Given the description of an element on the screen output the (x, y) to click on. 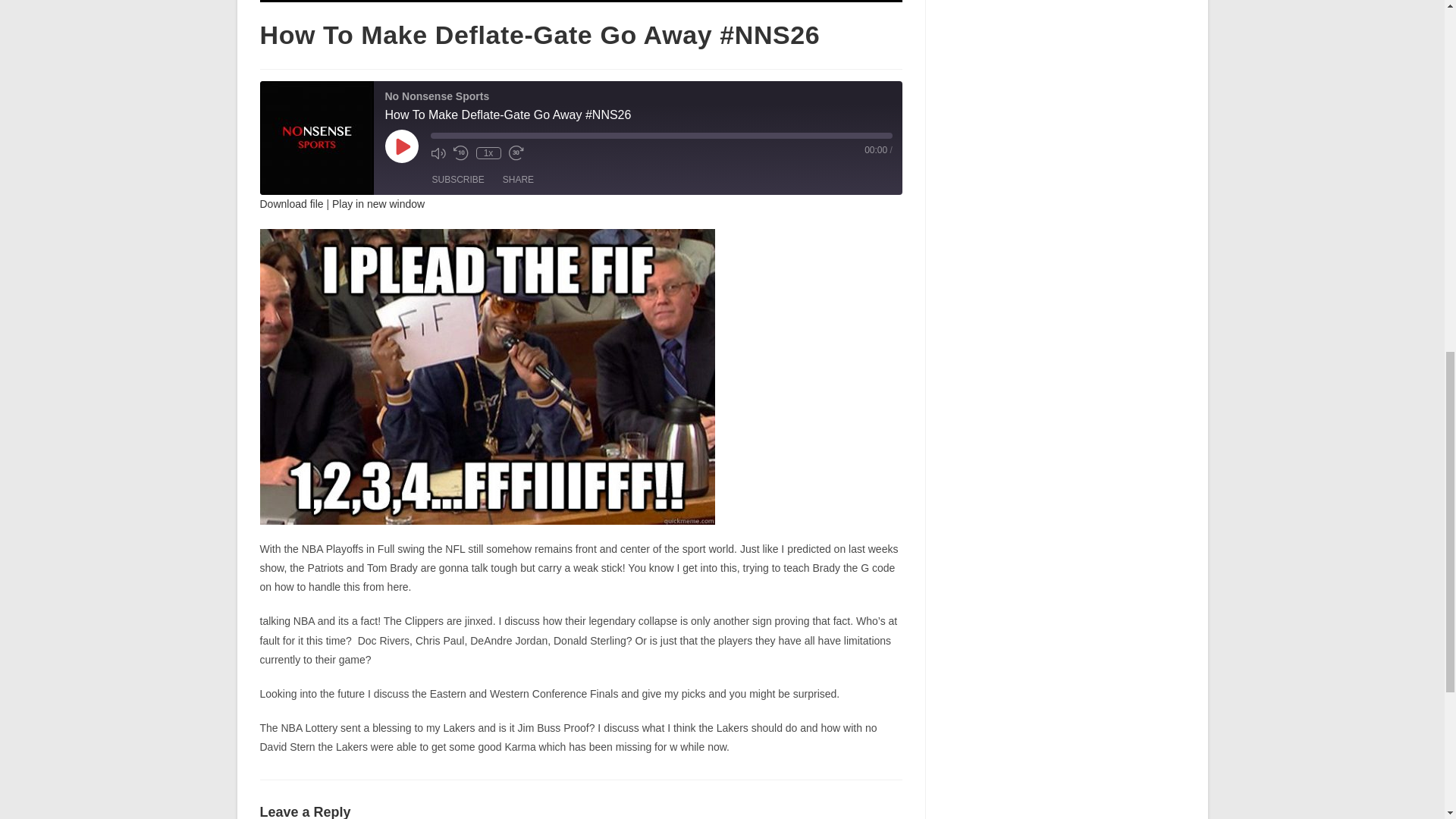
Rewind 10 Seconds (460, 152)
No Nonsense Sports (315, 137)
Play Episode (402, 145)
Subscribe (458, 179)
1x (488, 152)
Seek (661, 135)
Share (518, 179)
Playback Speed (488, 152)
Play (402, 145)
Fast Forward 30 seconds (515, 152)
Rewind 10 seconds (460, 152)
